Given the description of an element on the screen output the (x, y) to click on. 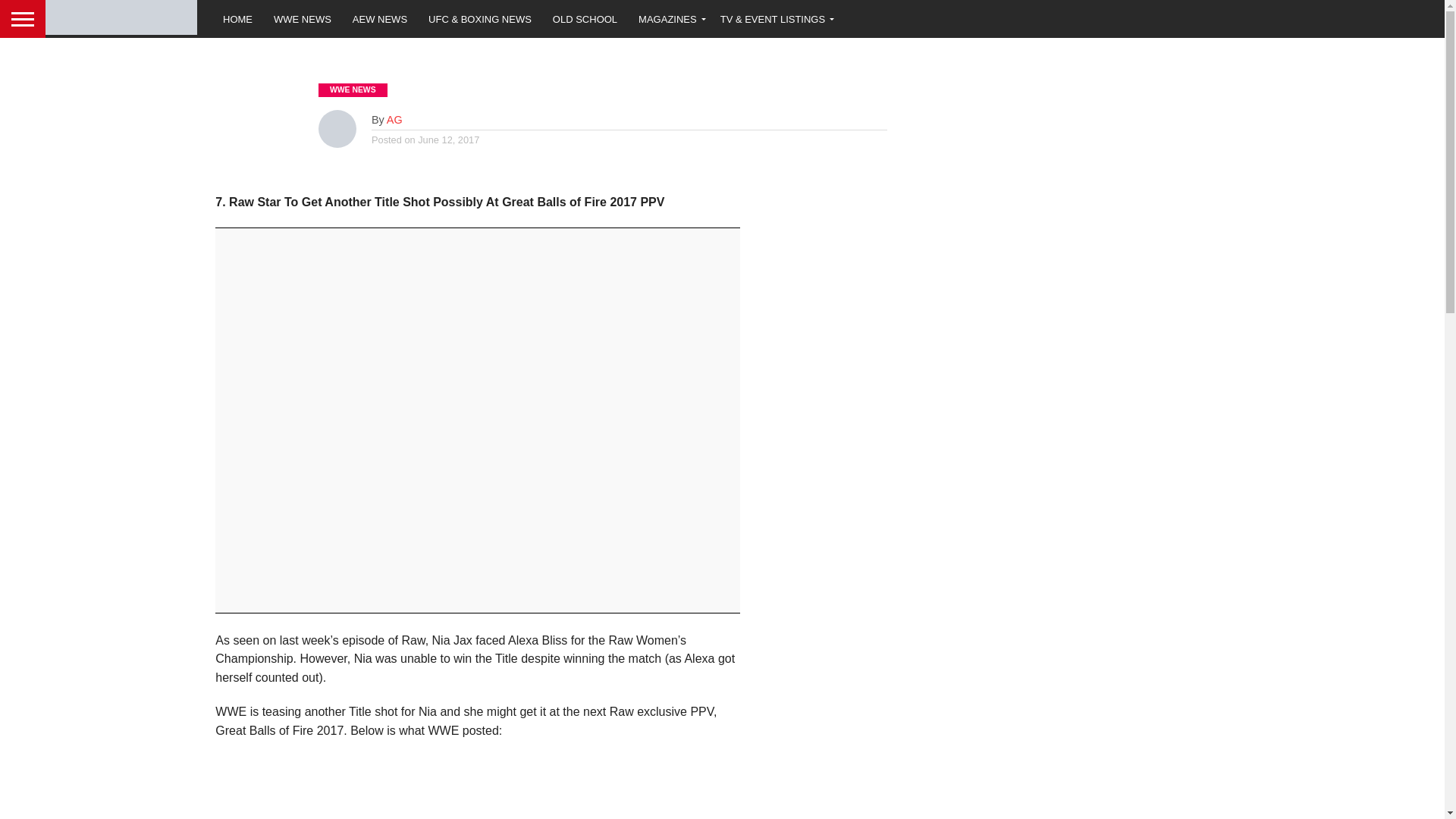
AEW NEWS (379, 18)
WWE NEWS (302, 18)
Posts by AG (395, 119)
OLD SCHOOL (584, 18)
HOME (237, 18)
MAGAZINES (668, 18)
